Given the description of an element on the screen output the (x, y) to click on. 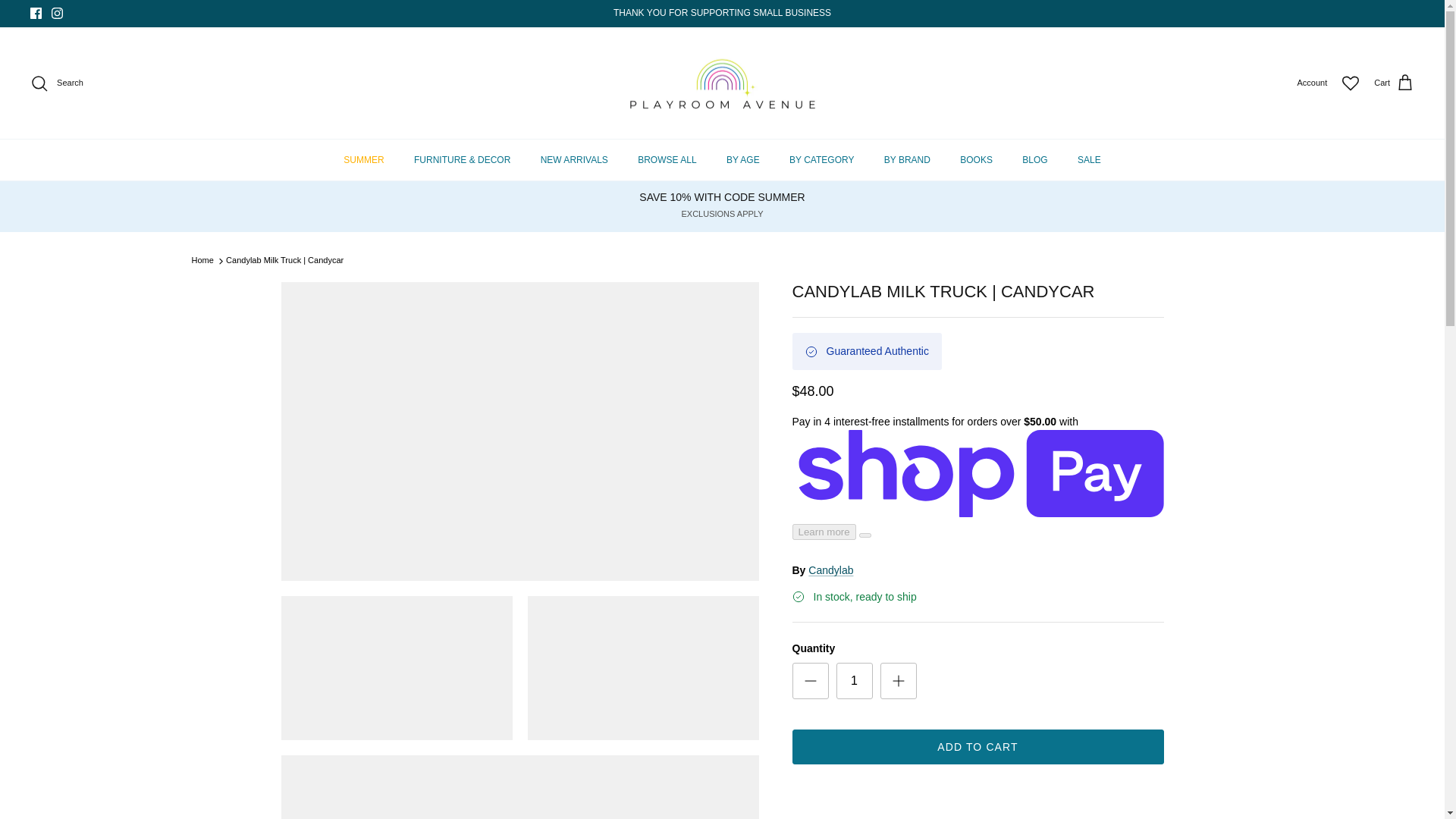
Cart (1393, 83)
Facebook (36, 12)
BY CATEGORY (821, 159)
NEW ARRIVALS (574, 159)
Facebook (36, 12)
Instagram (56, 12)
Instagram (56, 12)
BY AGE (743, 159)
BROWSE ALL (667, 159)
SUMMER (363, 159)
Playroom Avenue (721, 83)
1 (853, 680)
Account (1311, 83)
Minus (809, 680)
Search (56, 83)
